Given the description of an element on the screen output the (x, y) to click on. 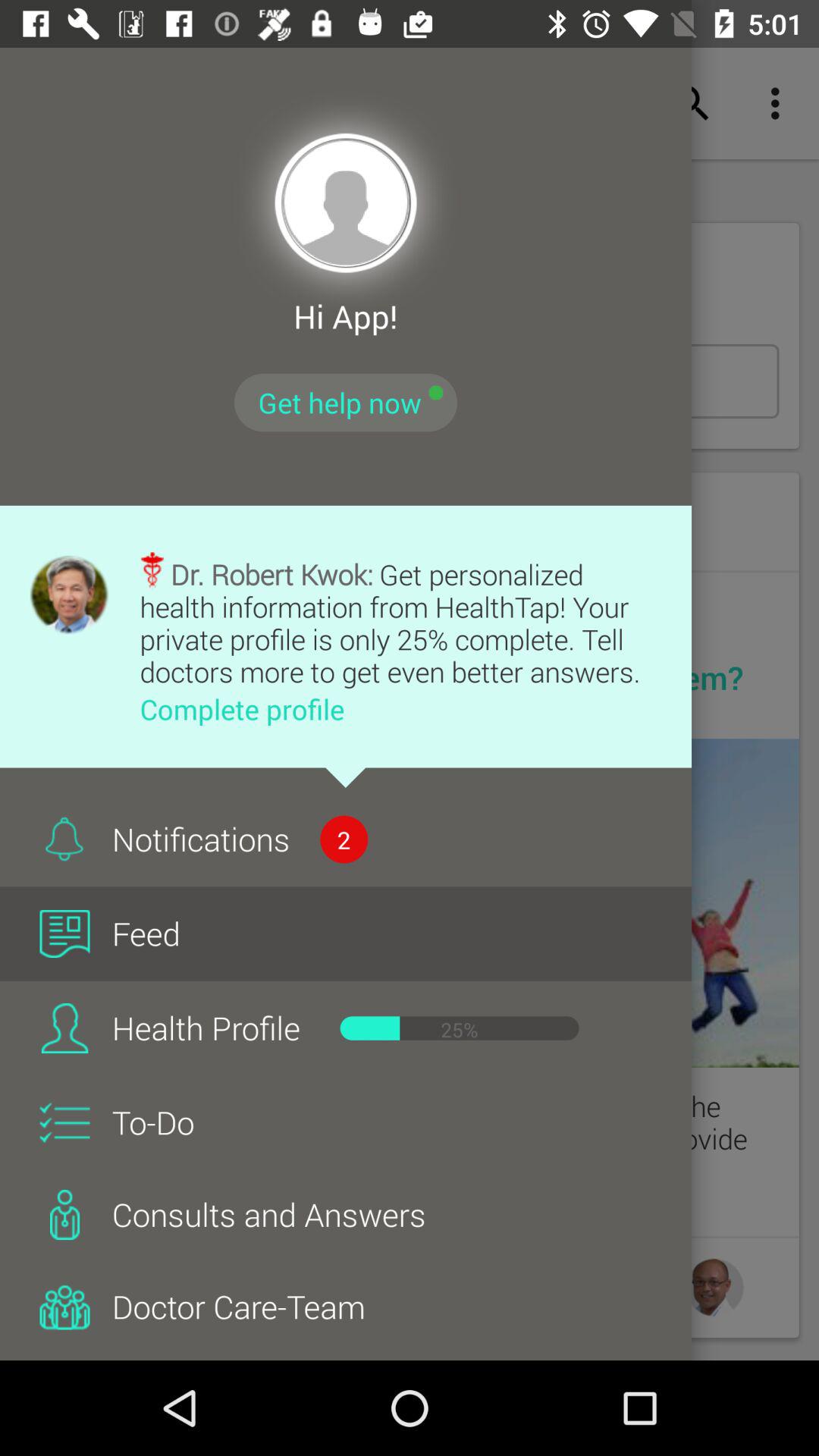
go to the feeds option select below health profile icon (65, 1027)
click on icon next to consults and answers (65, 1214)
click on icon left to doctor careteam (65, 1307)
